Given the description of an element on the screen output the (x, y) to click on. 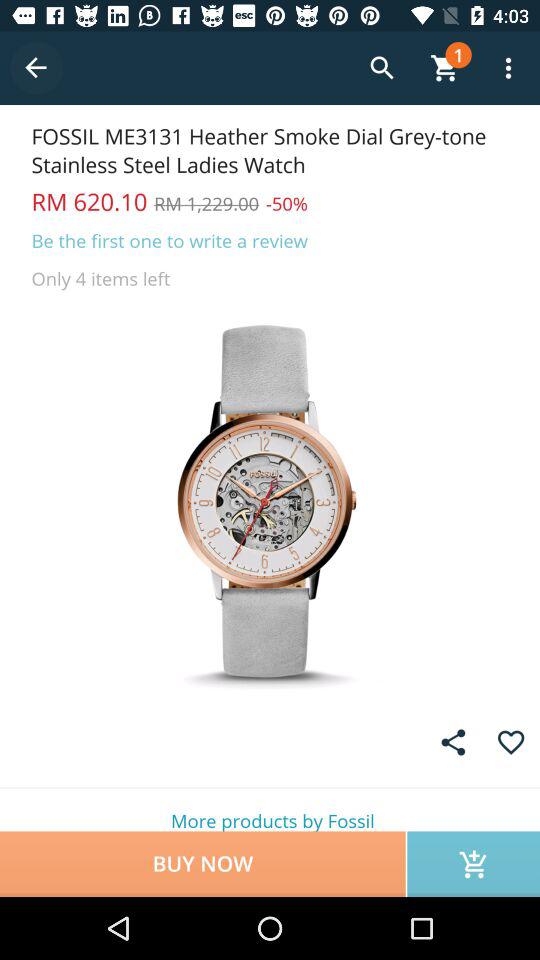
press icon below the more products by icon (202, 863)
